Given the description of an element on the screen output the (x, y) to click on. 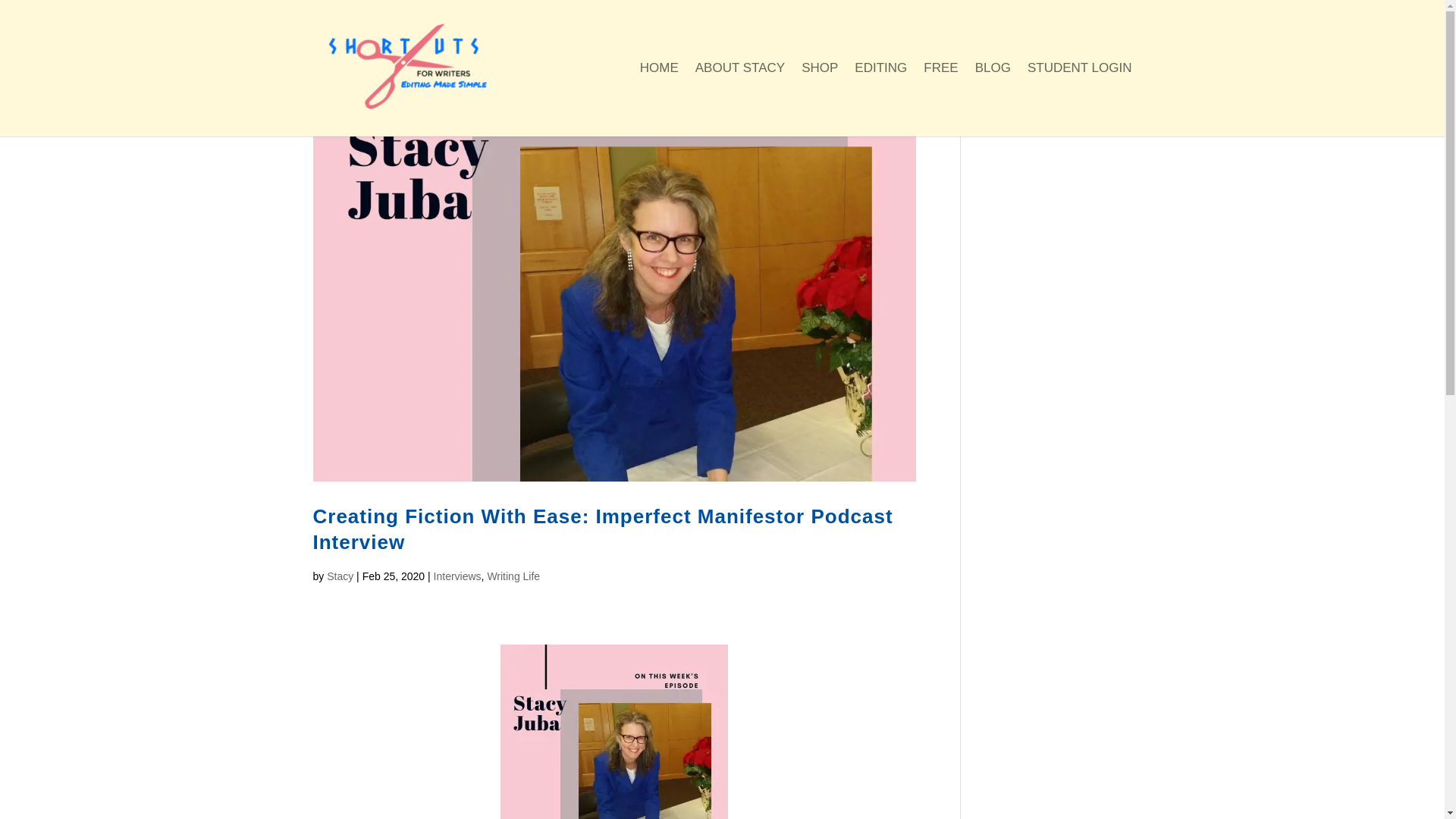
Posts by Stacy (339, 576)
Stacy (339, 576)
STUDENT LOGIN (1079, 99)
Writing Life (513, 576)
Interviews (457, 576)
ABOUT STACY (739, 99)
